Given the description of an element on the screen output the (x, y) to click on. 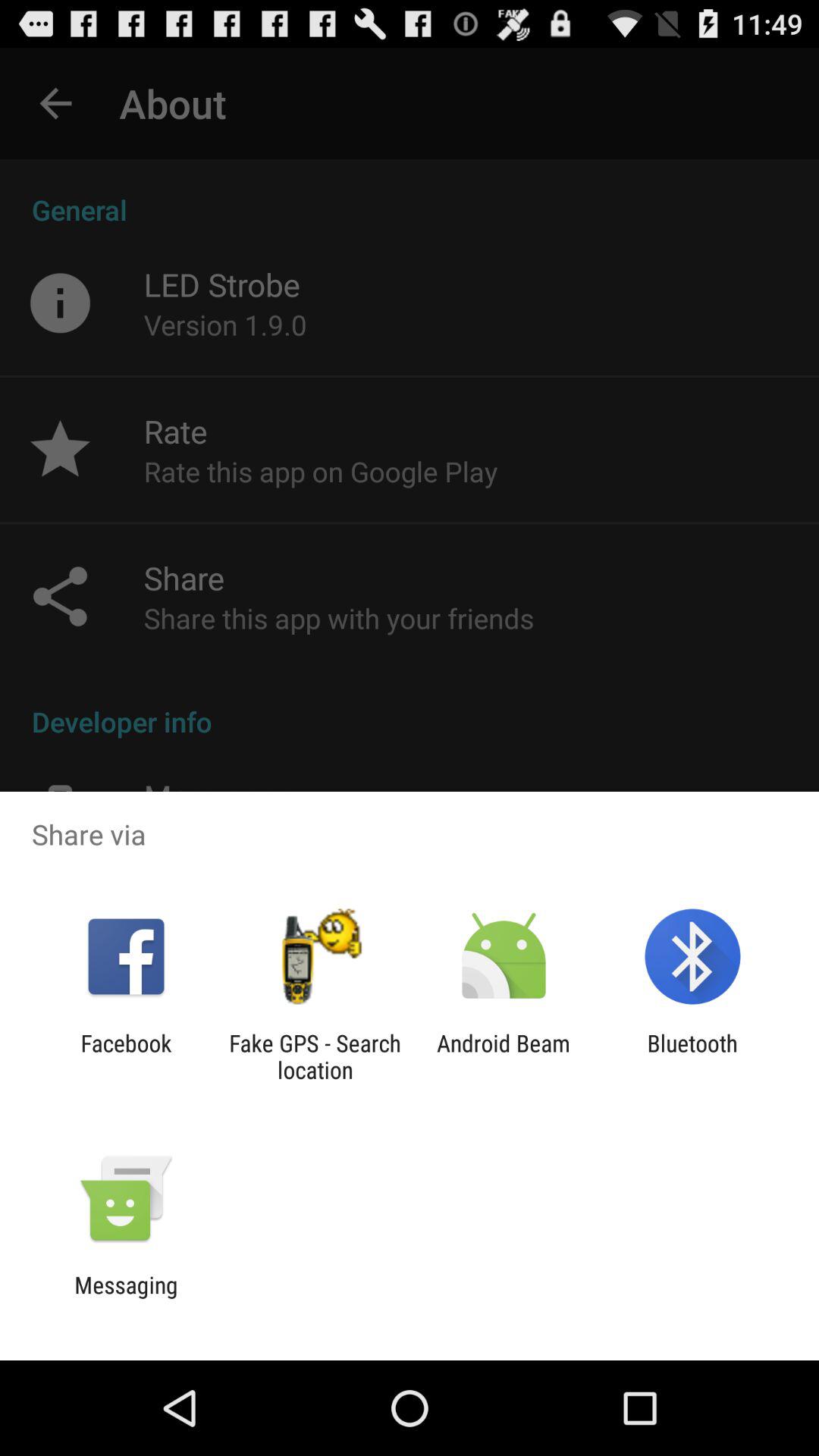
turn off icon next to fake gps search app (125, 1056)
